Given the description of an element on the screen output the (x, y) to click on. 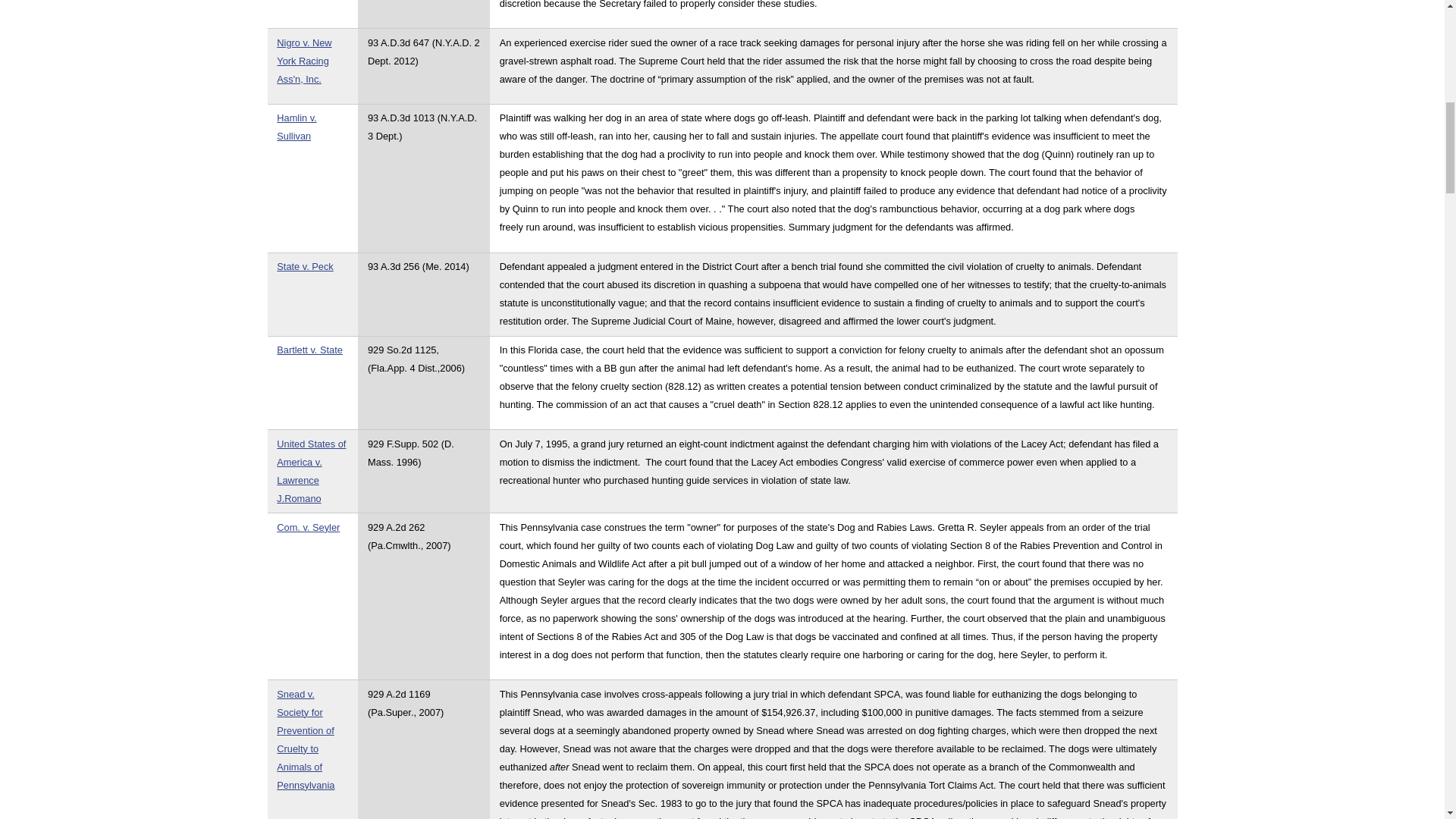
United States of America v. Lawrence J.Romano (311, 471)
State v. Peck (304, 266)
Com. v. Seyler (307, 527)
Bartlett v. State (309, 349)
Nigro v. New York Racing Ass'n, Inc. (303, 60)
Hamlin v. Sullivan (295, 126)
